Given the description of an element on the screen output the (x, y) to click on. 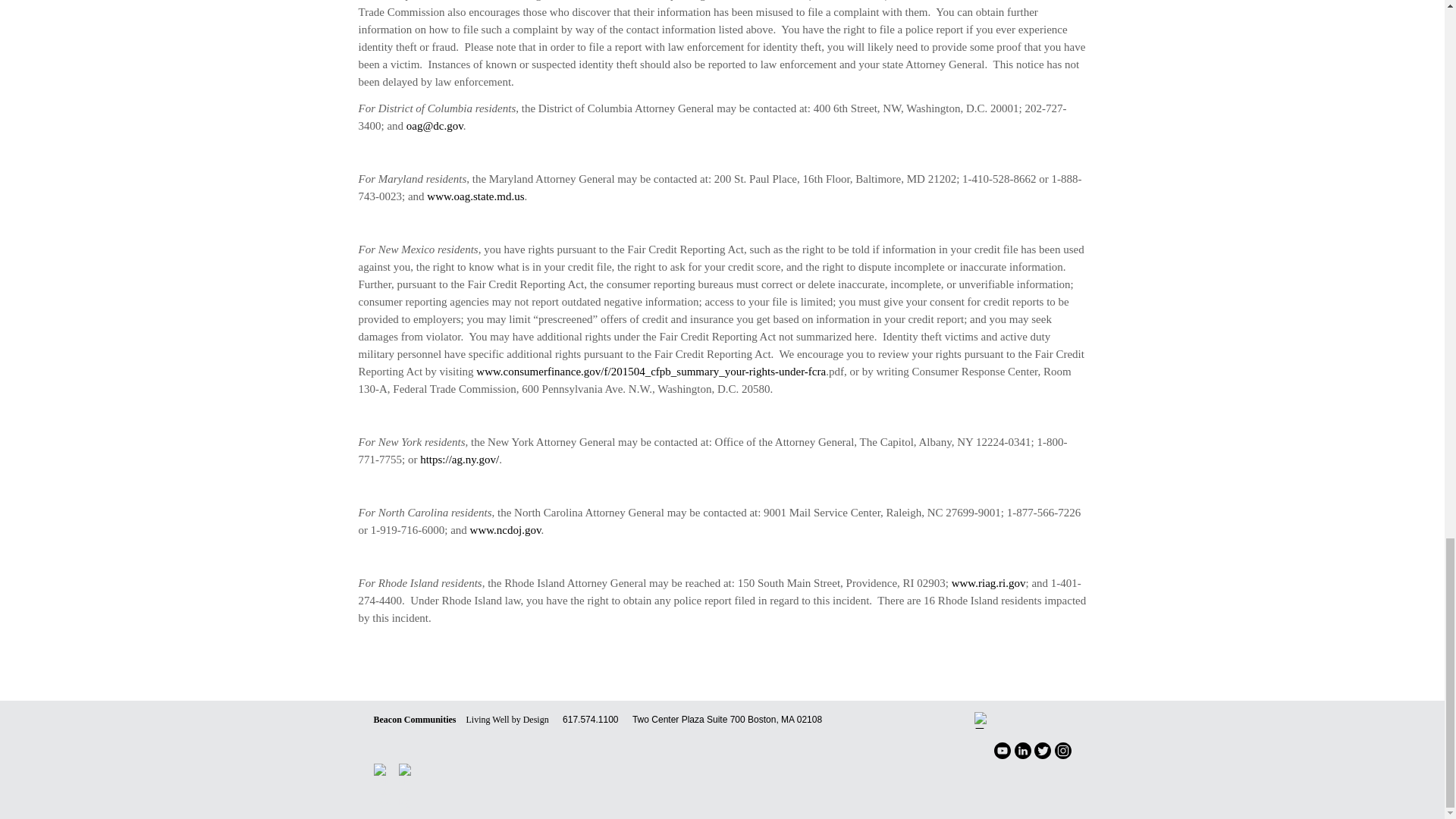
www.riag.ri.gov (989, 582)
www.ncdoj.gov (505, 530)
www.oag.state.md.us (475, 196)
